Given the description of an element on the screen output the (x, y) to click on. 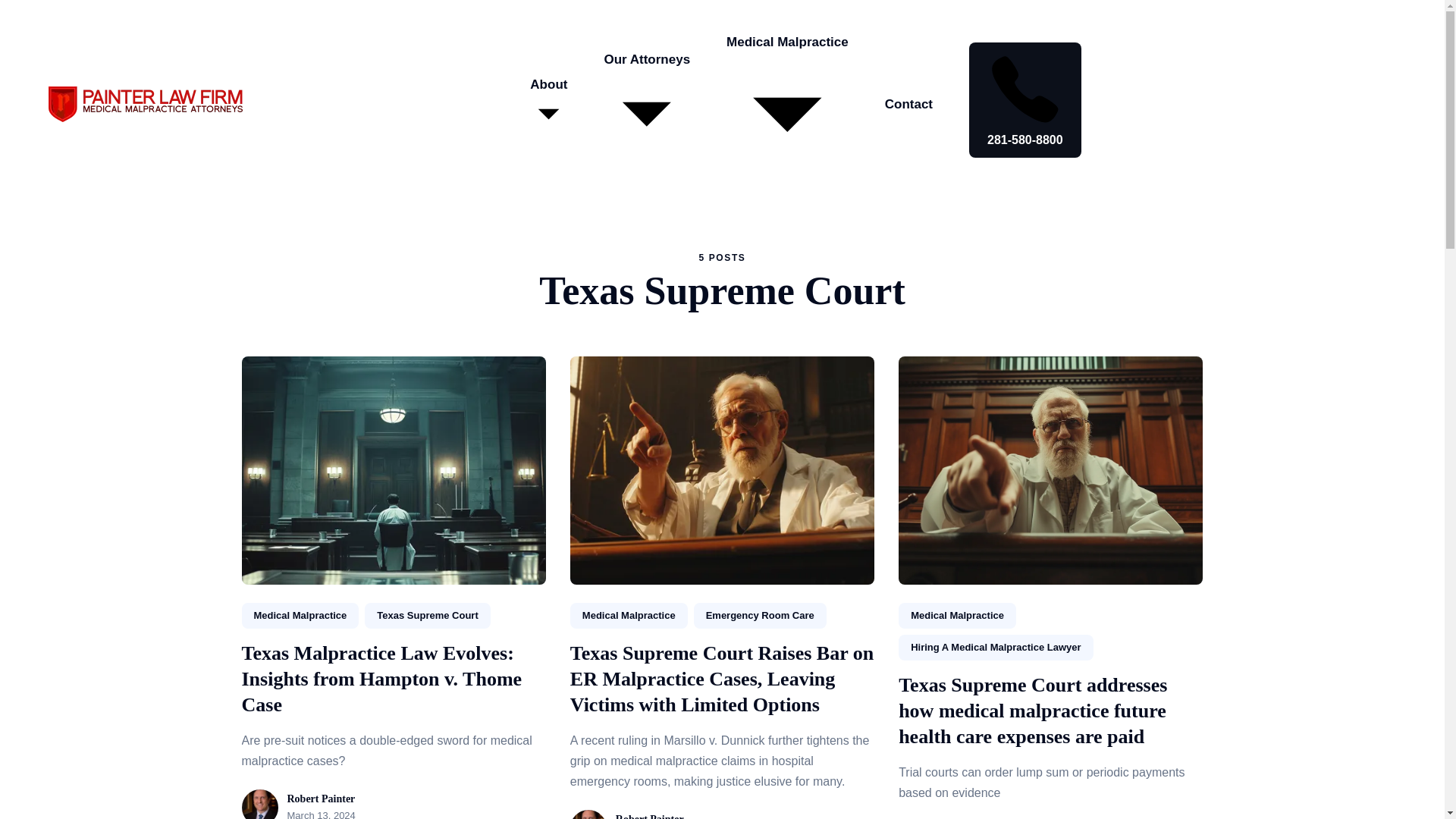
Medical Malpractice (628, 615)
Medical Malpractice (957, 615)
281-580-8800 (1025, 100)
Medical Malpractice (299, 615)
Contact (909, 103)
Hiring A Medical Malpractice Lawyer (995, 647)
Emergency Room Care (760, 615)
Texas Supreme Court (427, 615)
